Given the description of an element on the screen output the (x, y) to click on. 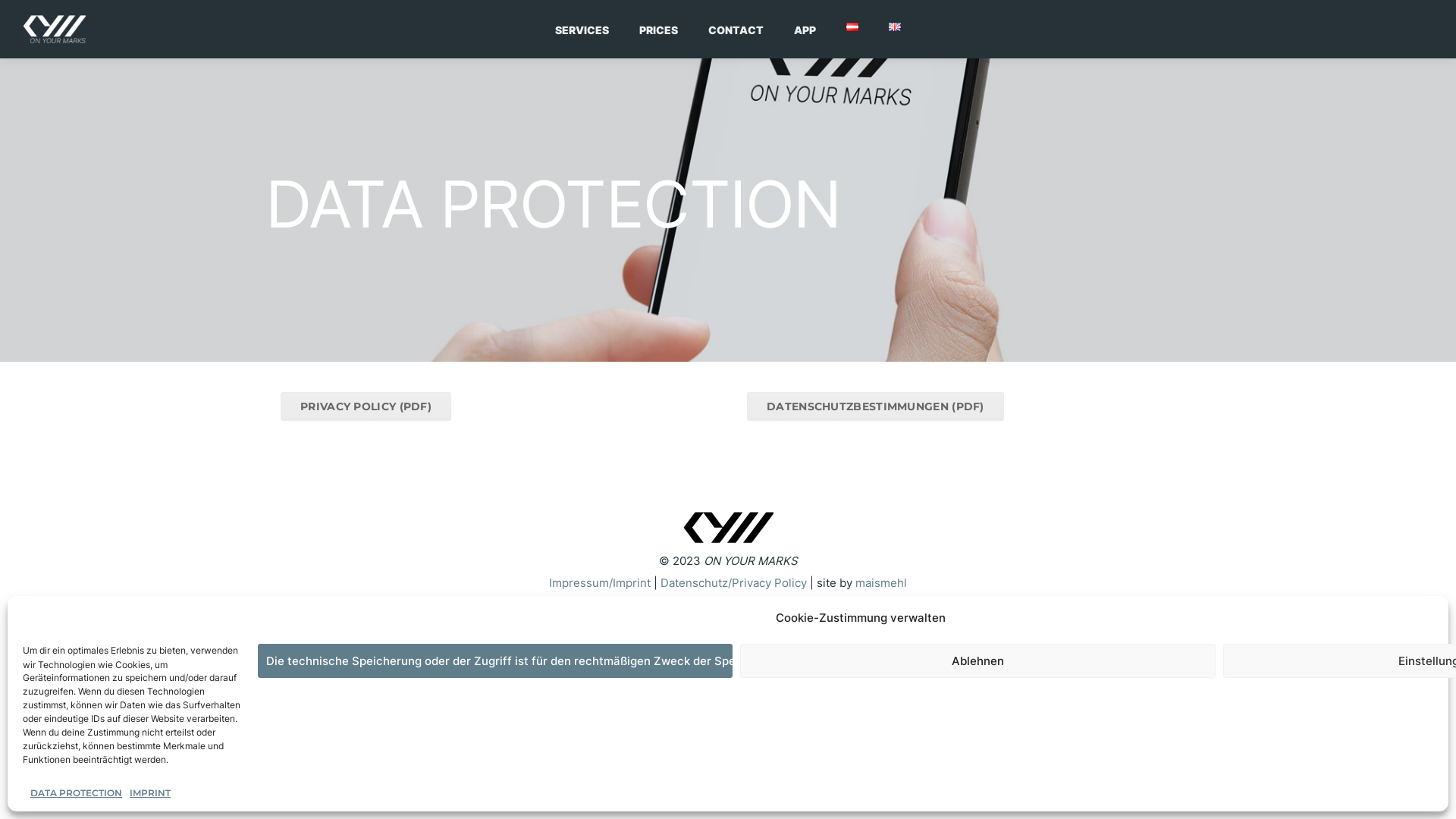
PRIVACY POLICY (PDF) Element type: text (365, 405)
PRICES Element type: text (658, 28)
DATA PROTECTION Element type: text (76, 792)
IMPRINT Element type: text (149, 792)
CONTACT Element type: text (735, 28)
Datenschutz/Privacy Policy Element type: text (733, 581)
DATENSCHUTZBESTIMMUNGEN (PDF) Element type: text (875, 405)
Impressum/Imprint Element type: text (599, 581)
Ablehnen Element type: text (977, 660)
SERVICES Element type: text (581, 28)
maismehl Element type: text (880, 581)
APP Element type: text (804, 28)
